Given the description of an element on the screen output the (x, y) to click on. 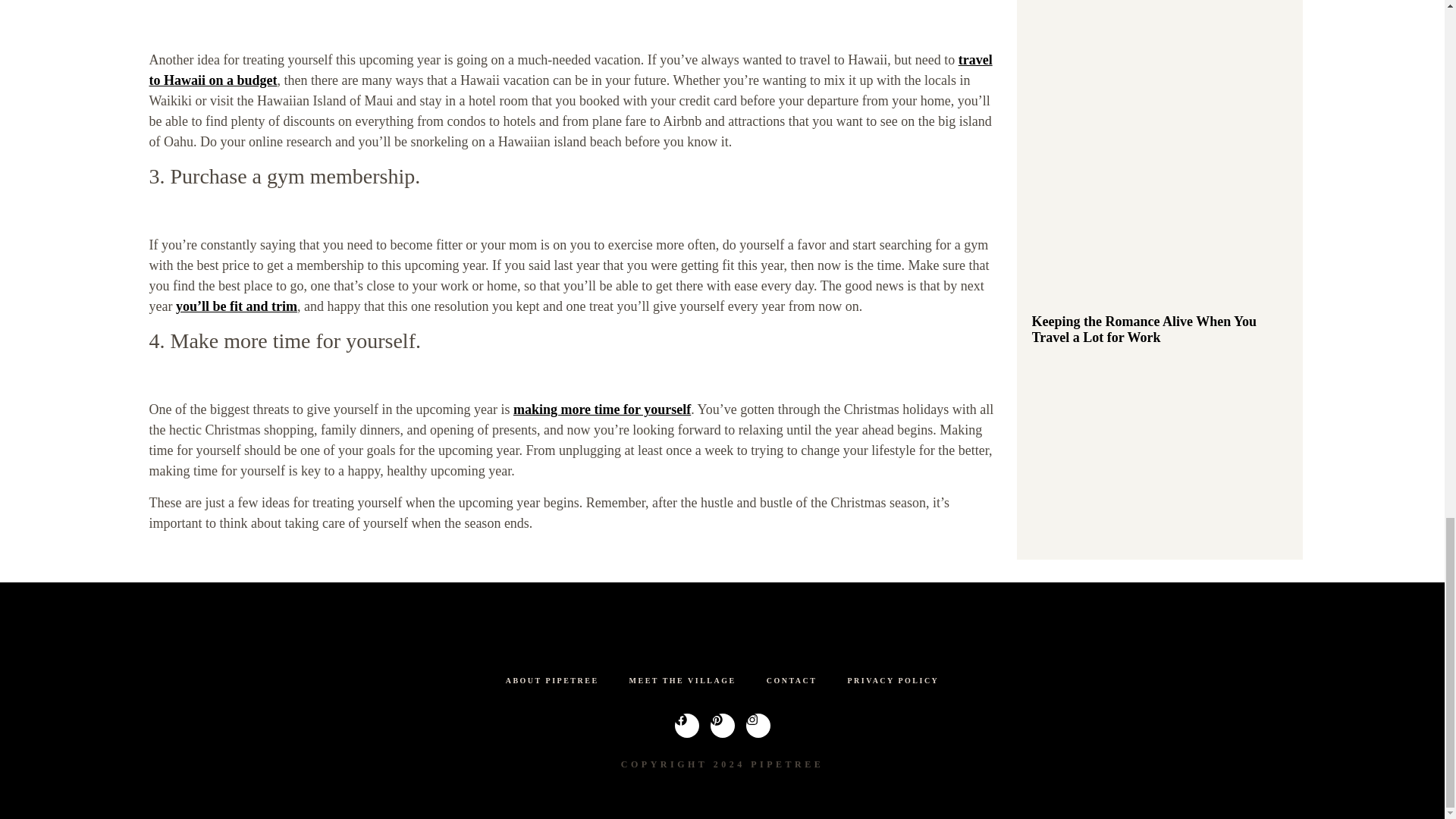
travel to Hawaii on a budget (569, 69)
Keeping the Romance Alive When You Travel a Lot for Work (1143, 329)
making more time for yourself (601, 409)
